Given the description of an element on the screen output the (x, y) to click on. 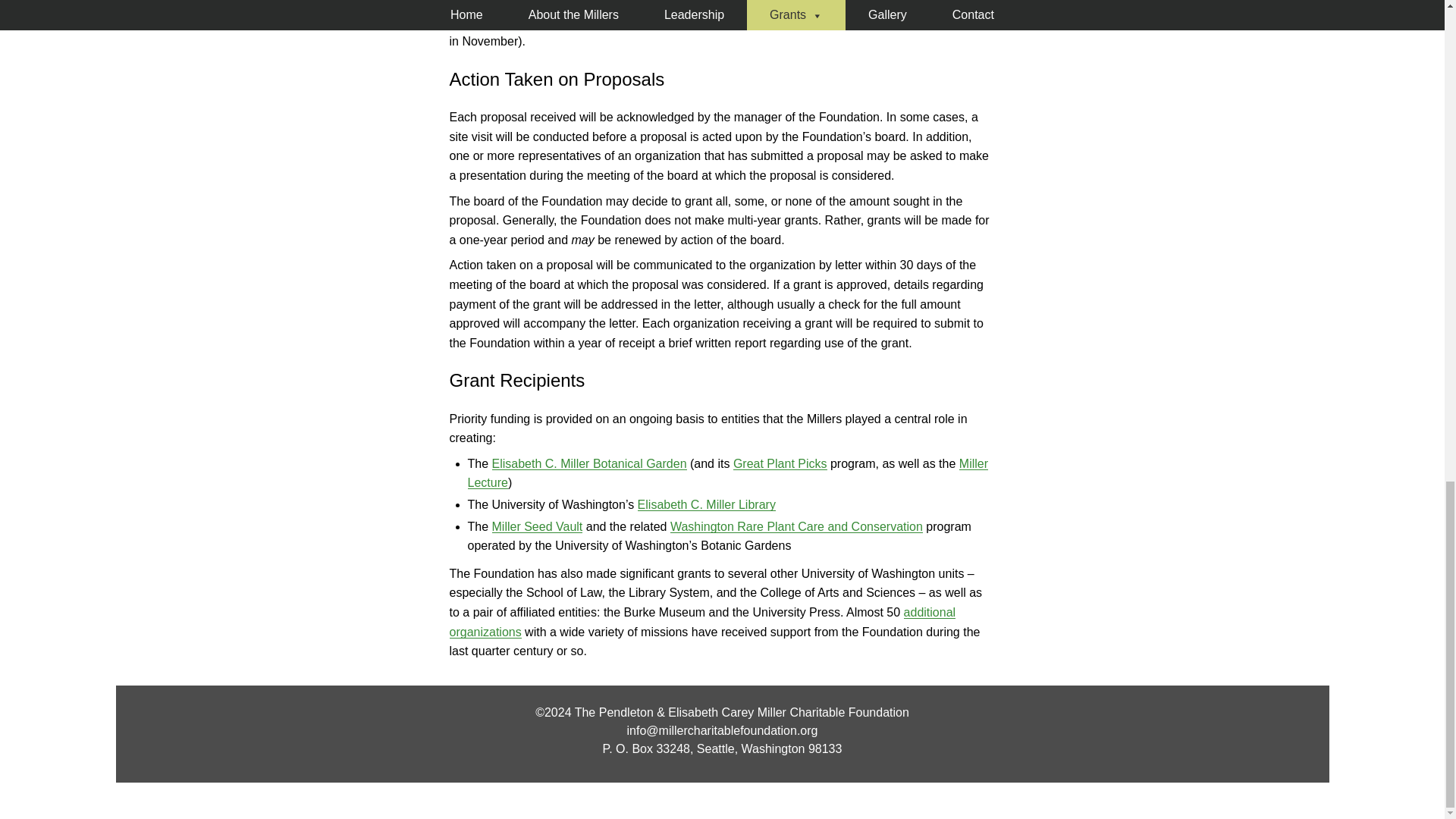
Miller Seed Vault (537, 526)
Miller Lecture (727, 473)
Great Plant Picks (780, 463)
additional organizations (701, 622)
Elisabeth C. Miller Library (706, 504)
Washington Rare Plant Care and Conservation (796, 526)
Elisabeth C. Miller Botanical Garden (589, 463)
